Given the description of an element on the screen output the (x, y) to click on. 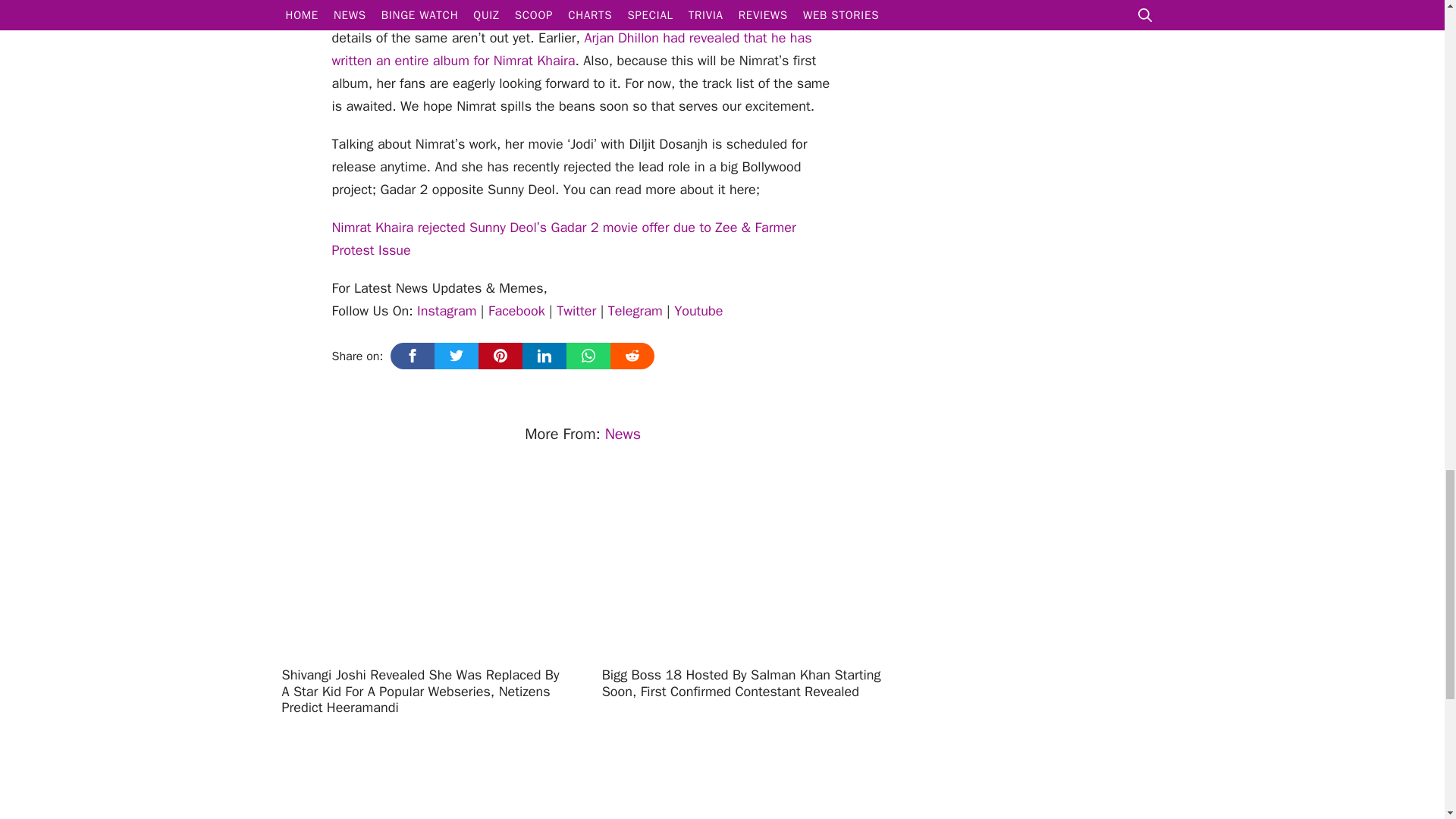
Instagram (446, 310)
Telegram (635, 310)
Twitter (575, 310)
Facebook (515, 310)
